Given the description of an element on the screen output the (x, y) to click on. 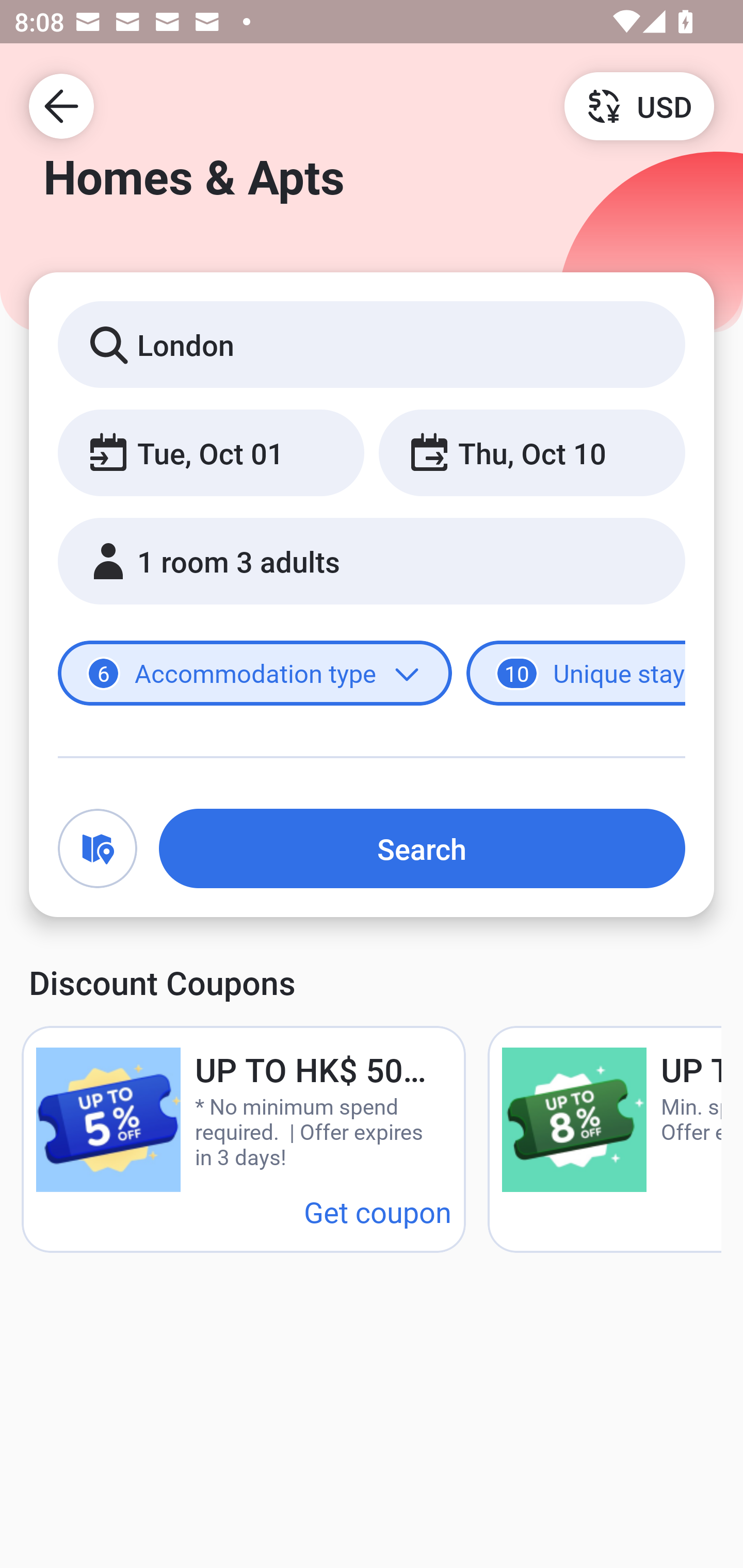
USD (639, 105)
London (371, 344)
Tue, Oct 01 (210, 452)
Thu, Oct 10 (531, 452)
1 room 3 adults (371, 561)
6 Accommodation type (254, 673)
10 Unique stays (575, 673)
Search (422, 848)
Get coupon (377, 1211)
